Given the description of an element on the screen output the (x, y) to click on. 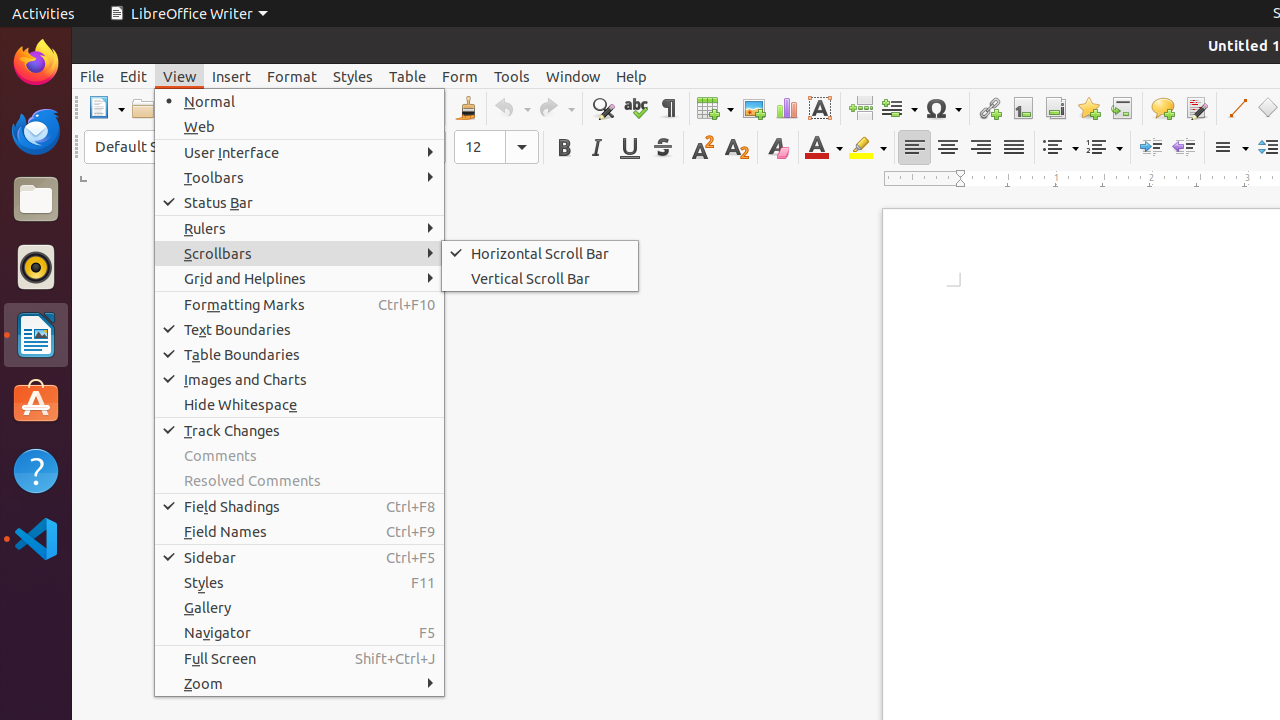
Center Element type: toggle-button (947, 147)
Ubuntu Software Element type: push-button (36, 402)
Spelling Element type: push-button (635, 108)
Table Element type: push-button (715, 108)
Symbol Element type: push-button (943, 108)
